Given the description of an element on the screen output the (x, y) to click on. 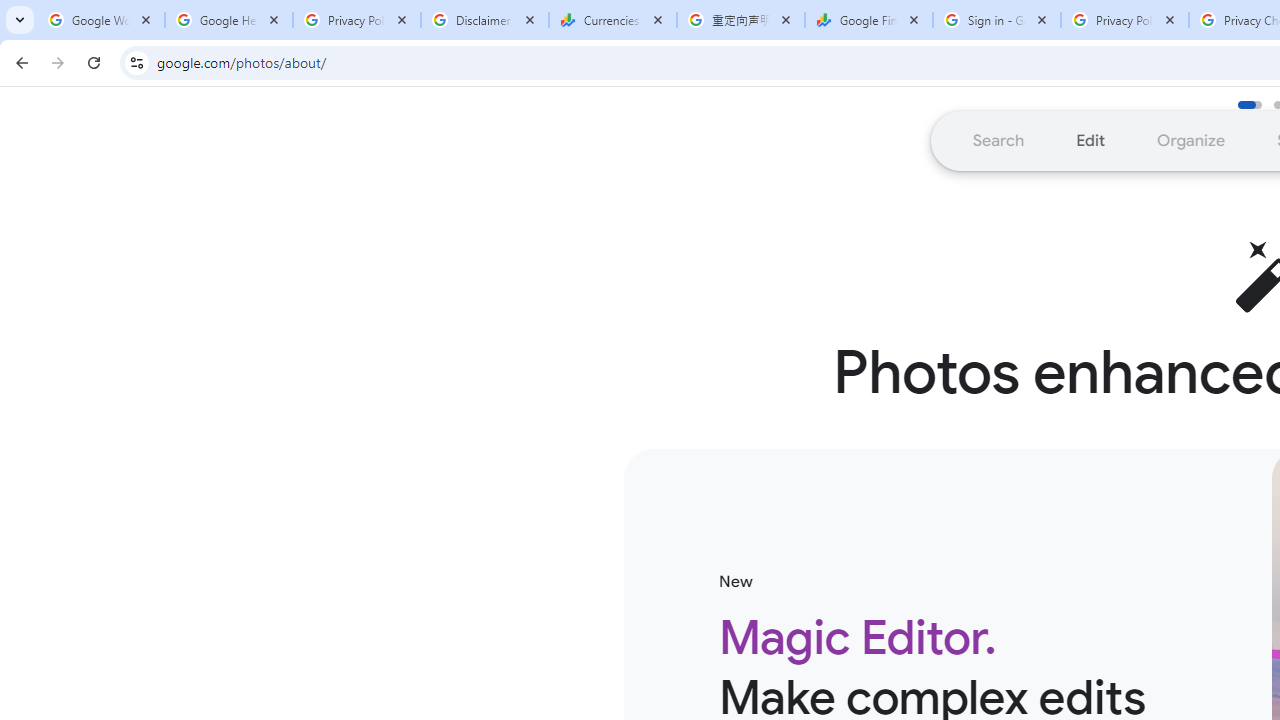
Currencies - Google Finance (613, 20)
Sign in - Google Accounts (997, 20)
